Given the description of an element on the screen output the (x, y) to click on. 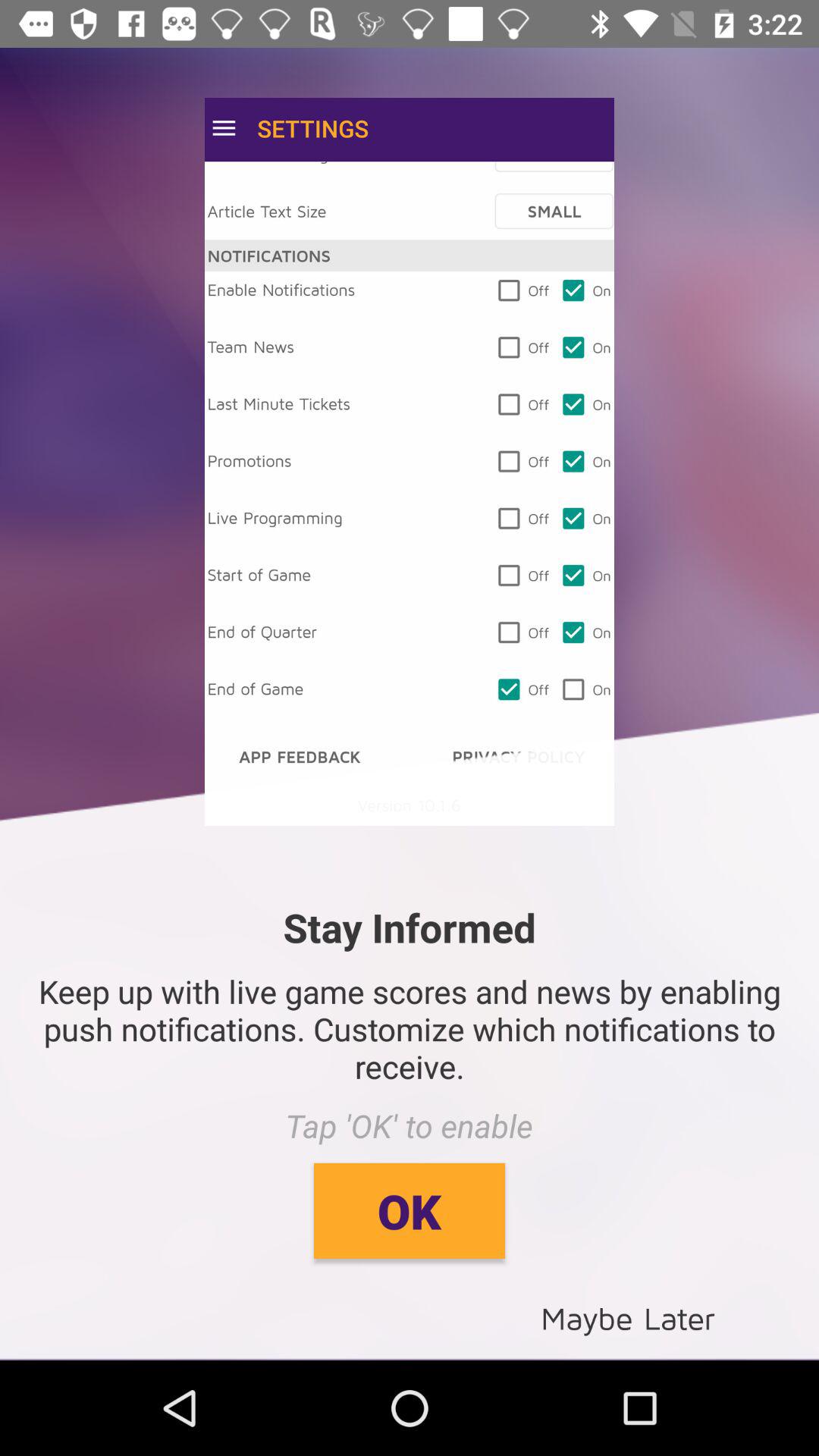
click the item below ok item (627, 1317)
